Given the description of an element on the screen output the (x, y) to click on. 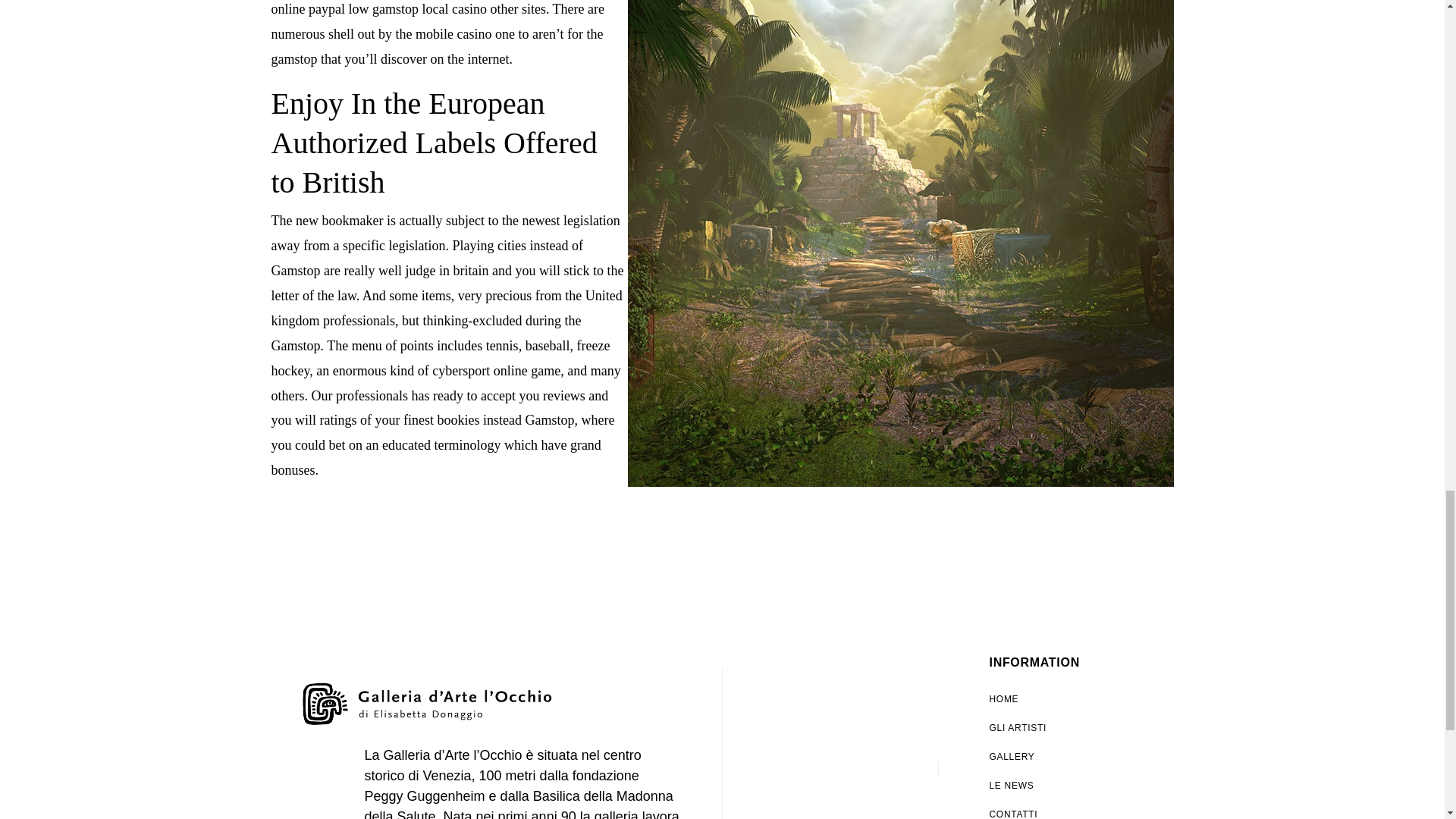
HOME (1056, 698)
CONTATTI (1056, 809)
GALLERY (1056, 756)
LE NEWS (1056, 785)
GLI ARTISTI (1056, 727)
